Given the description of an element on the screen output the (x, y) to click on. 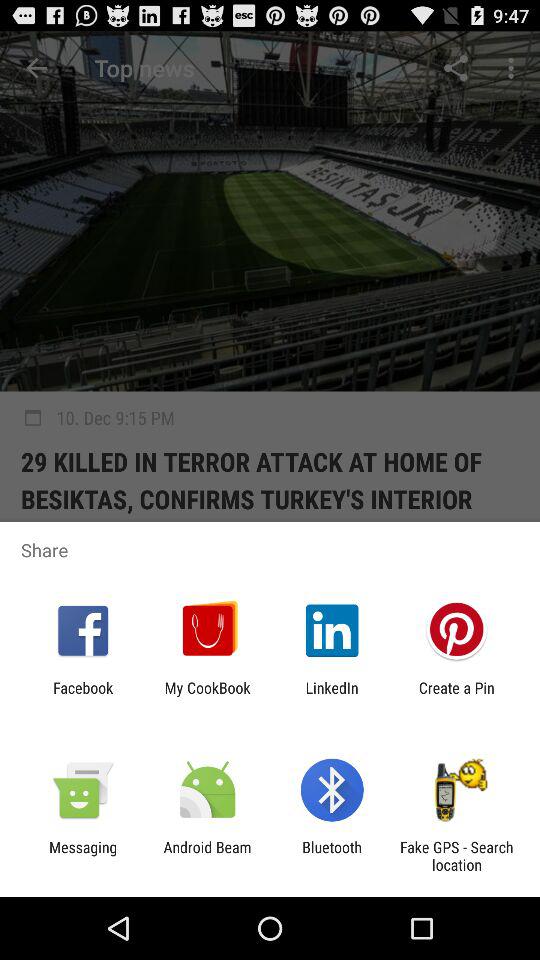
flip to the my cookbook app (207, 696)
